Given the description of an element on the screen output the (x, y) to click on. 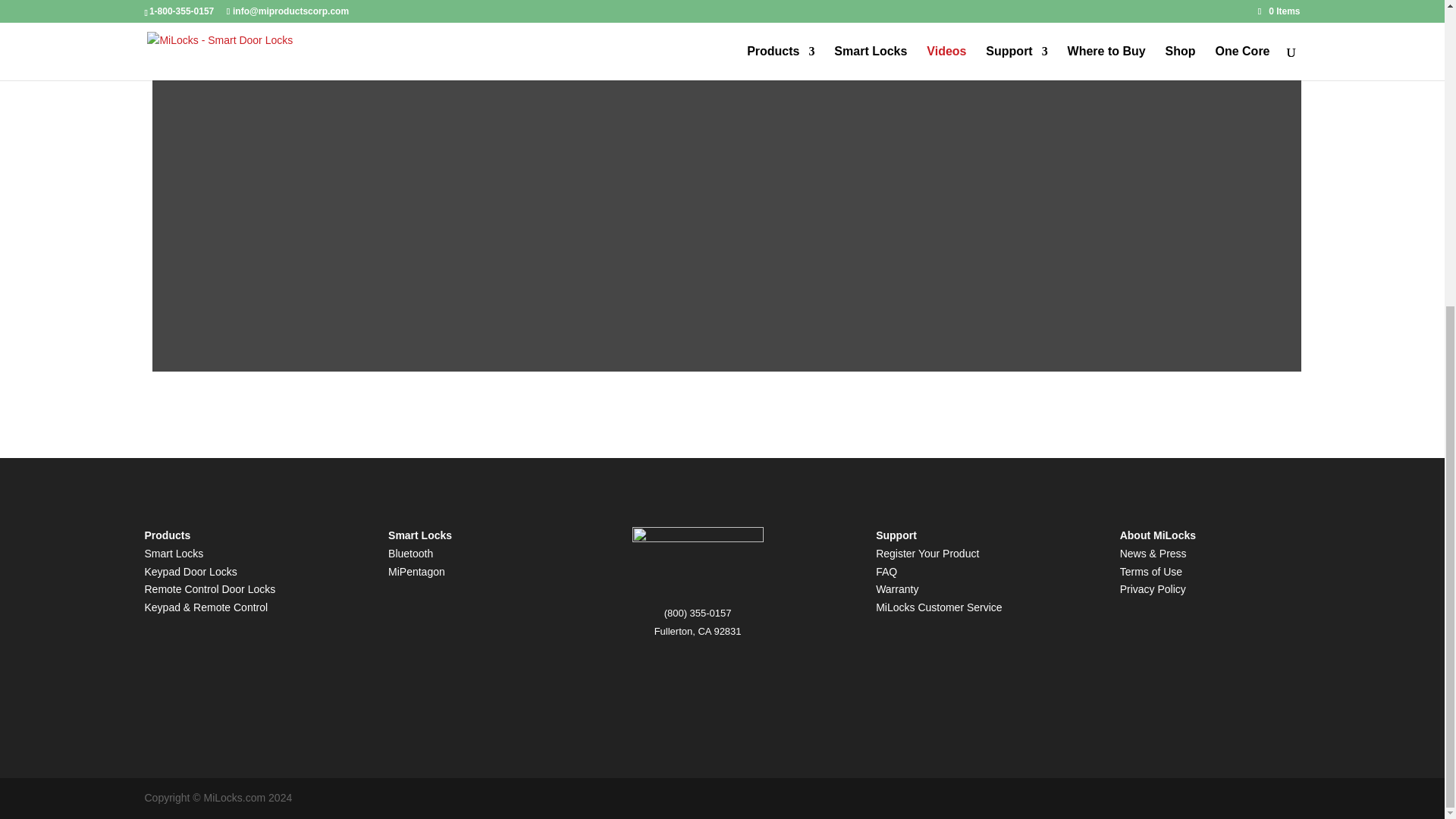
Remote Control Door Locks (209, 589)
Bluetooth (410, 553)
Smart Locks (173, 553)
Locks (223, 571)
Privacy Policy (1152, 589)
Register Your Product (927, 553)
MiPentagon (416, 571)
Terms of Use (1150, 571)
MiLocks Customer Service (939, 607)
FAQ (886, 571)
